Given the description of an element on the screen output the (x, y) to click on. 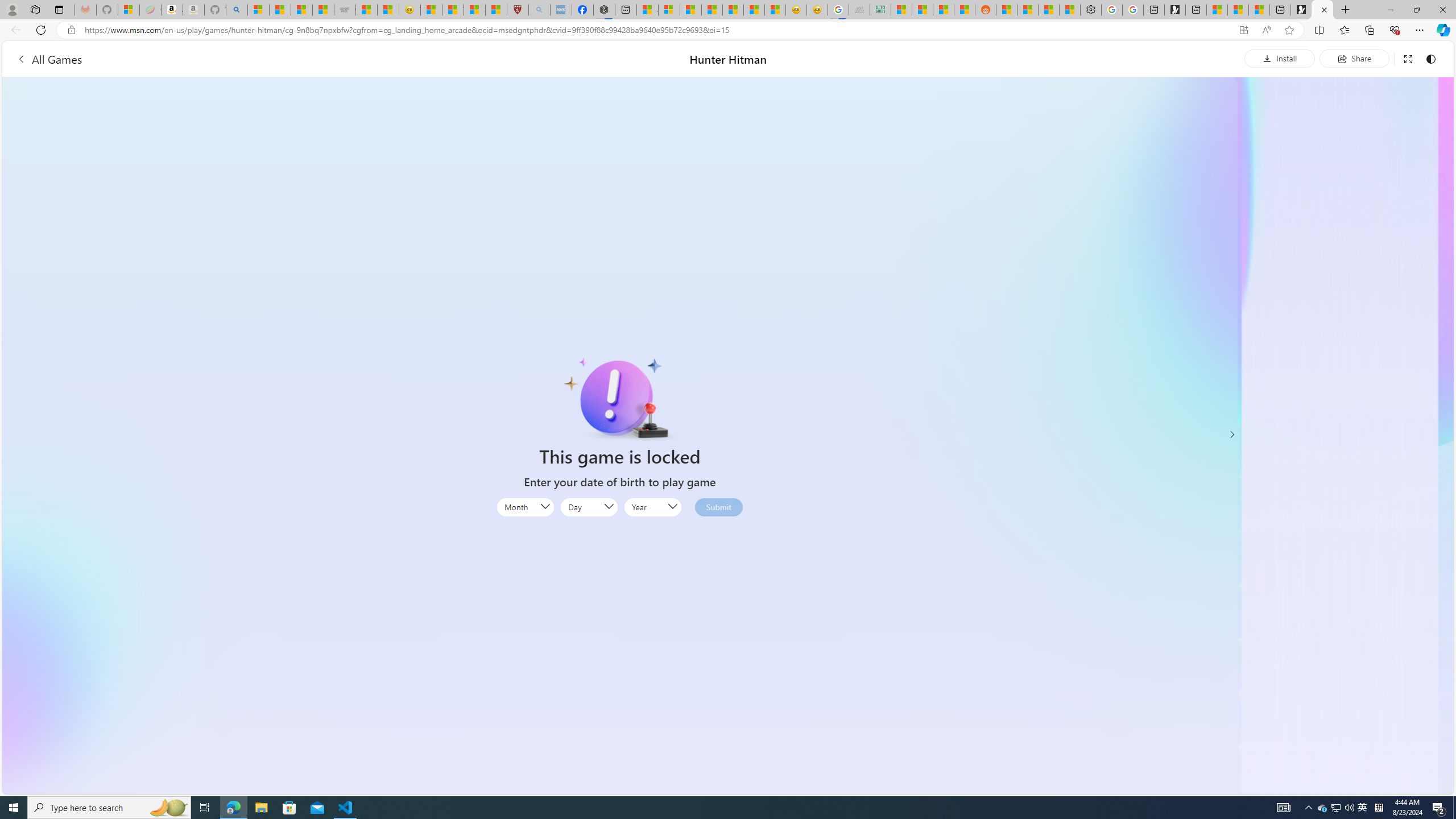
MSNBC - MSN (901, 9)
